Given the description of an element on the screen output the (x, y) to click on. 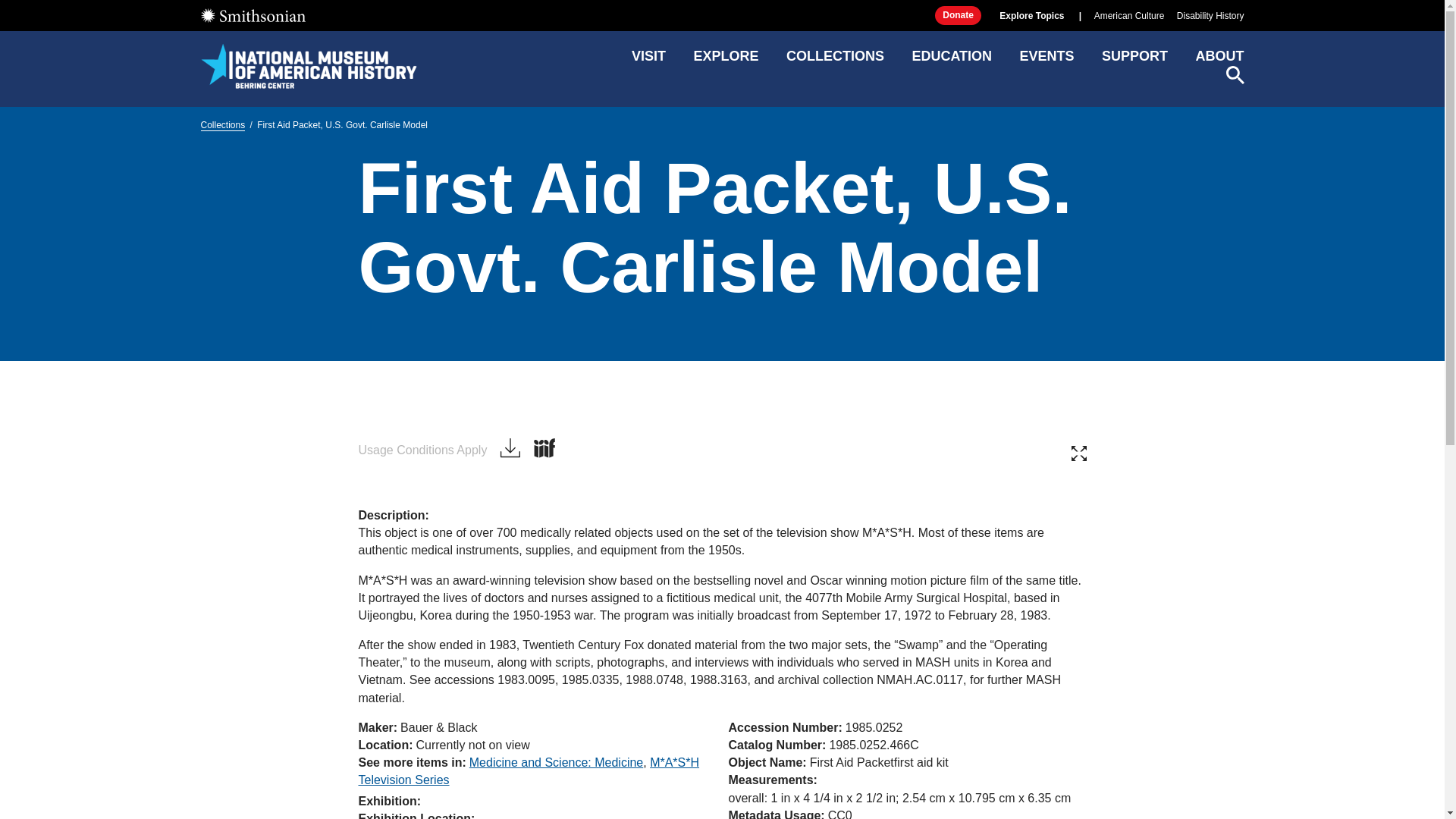
Medicine and Science: Medicine (555, 762)
EXPLORE (725, 60)
Disability History (1210, 15)
Click to view download files (510, 449)
Skip to main content (721, 12)
American Culture (1129, 15)
Smithsonian (252, 15)
SUPPORT (1134, 60)
Click to open image viewer. (722, 410)
COLLECTIONS (834, 60)
Click to view IIIF info (544, 448)
Enlarge image (1078, 453)
VISIT (648, 60)
Donate (957, 15)
National Museum of American History (308, 65)
